Given the description of an element on the screen output the (x, y) to click on. 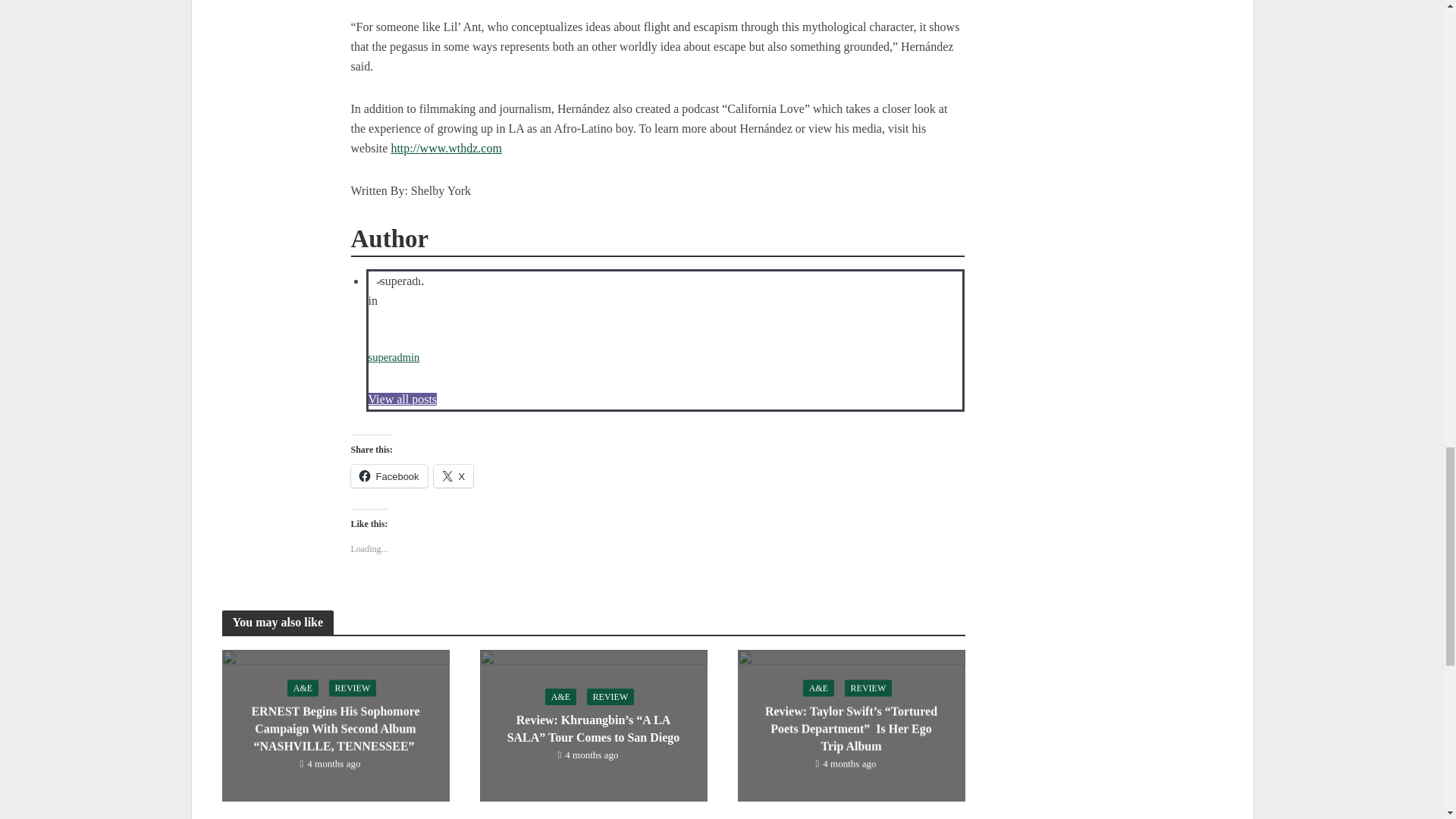
Click to share on Facebook (388, 476)
Click to share on X (453, 476)
View all posts (403, 399)
superadmin (394, 357)
